Given the description of an element on the screen output the (x, y) to click on. 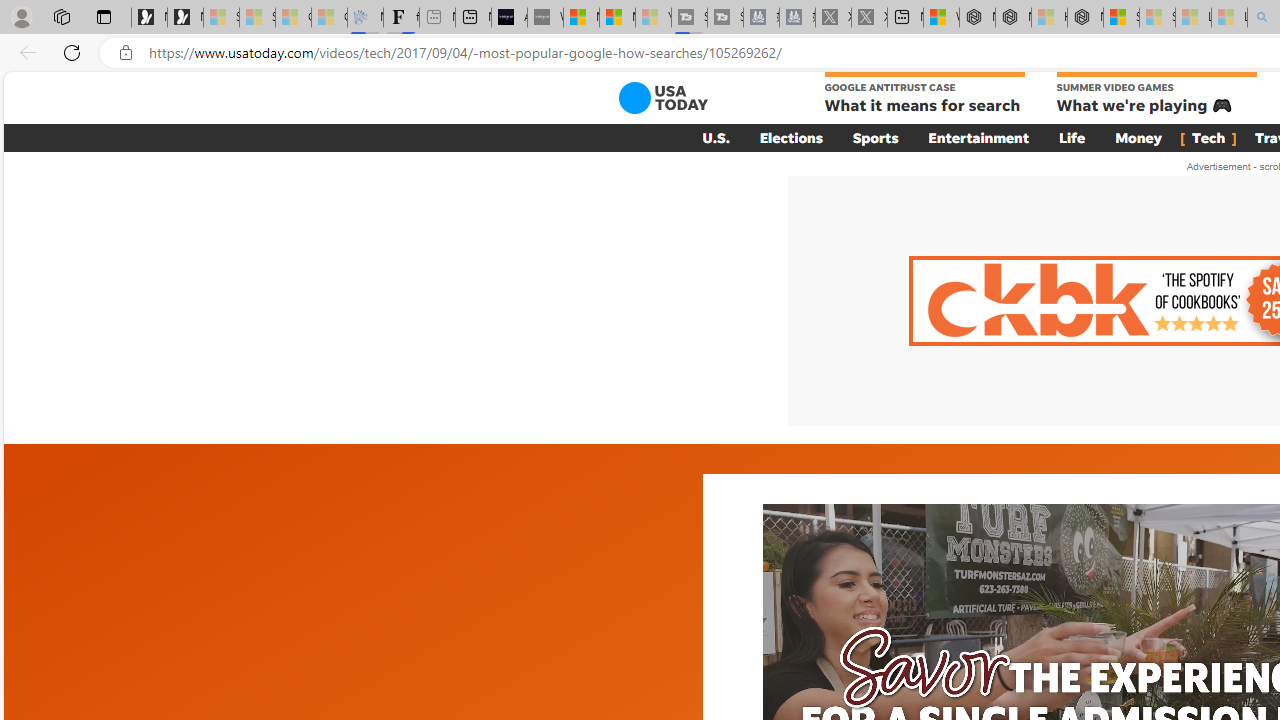
Entertainment (978, 137)
Class: gnt_n_lg_svg (662, 97)
